Given the description of an element on the screen output the (x, y) to click on. 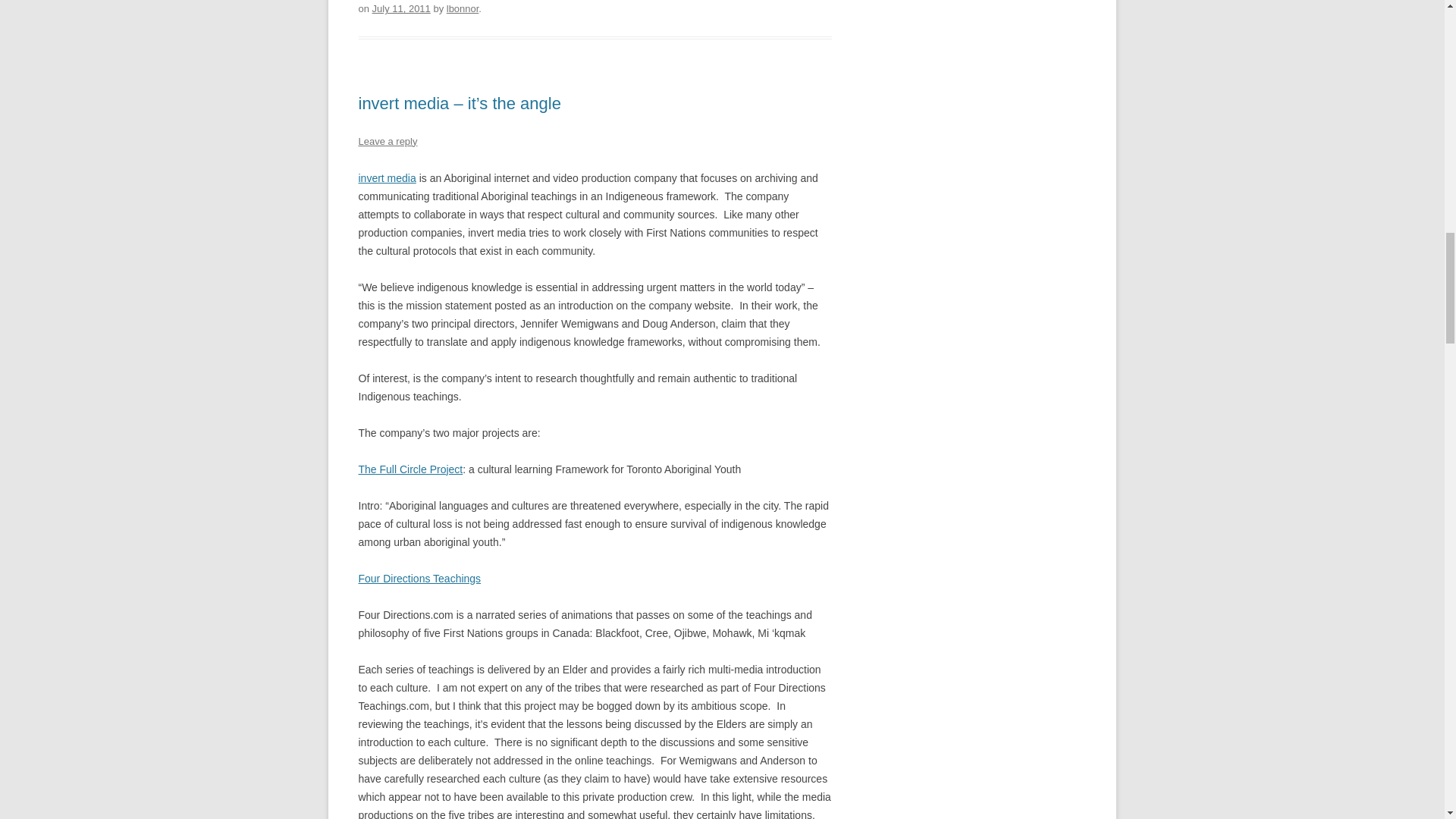
7:51 am (401, 8)
lbonnor (462, 8)
July 11, 2011 (401, 8)
View all posts by lbonnor (462, 8)
